Given the description of an element on the screen output the (x, y) to click on. 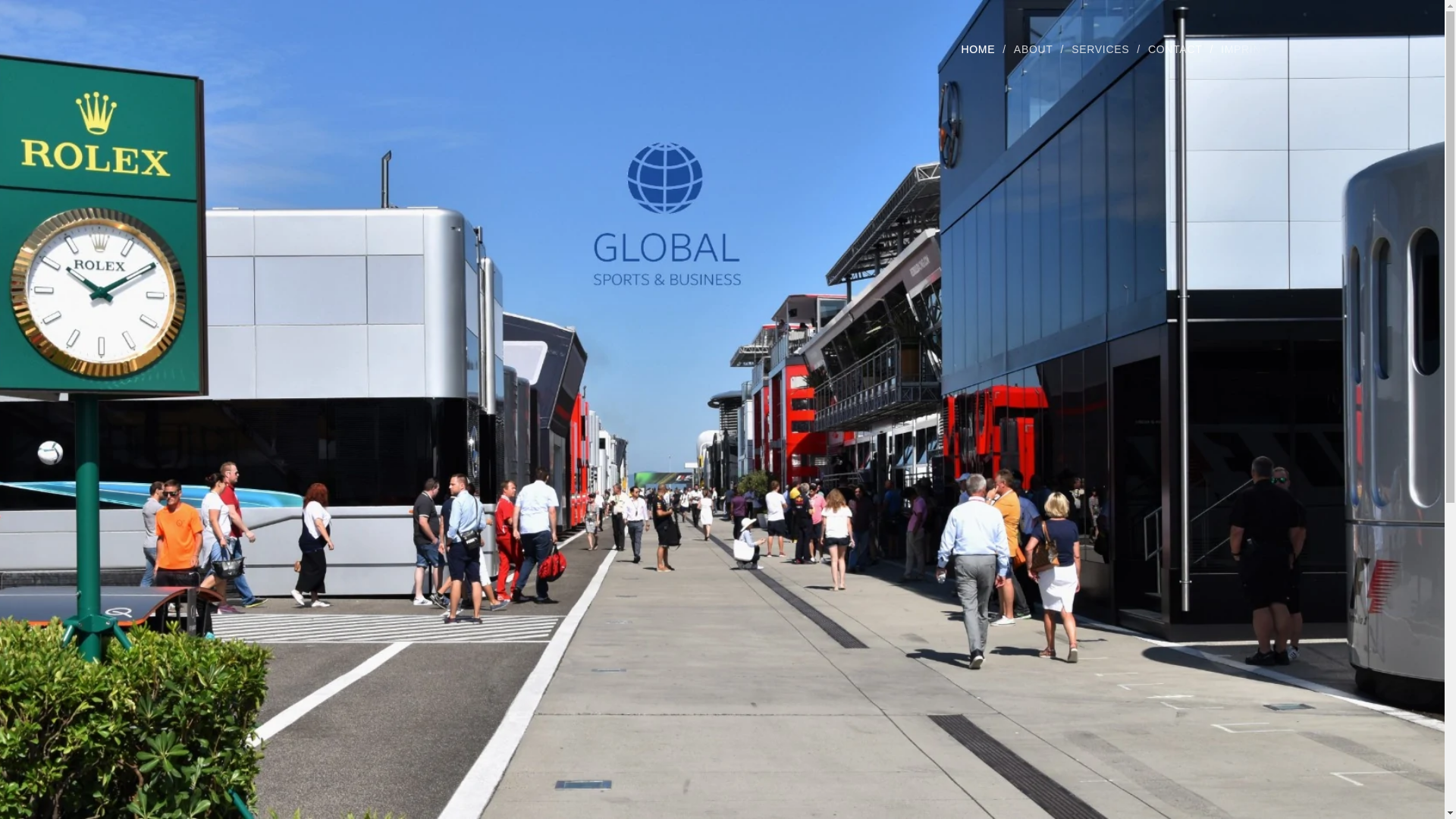
HOME (981, 48)
IMPRINT (1240, 48)
CONTACT (1176, 48)
ABOUT (1035, 48)
SERVICES (1102, 48)
